Given the description of an element on the screen output the (x, y) to click on. 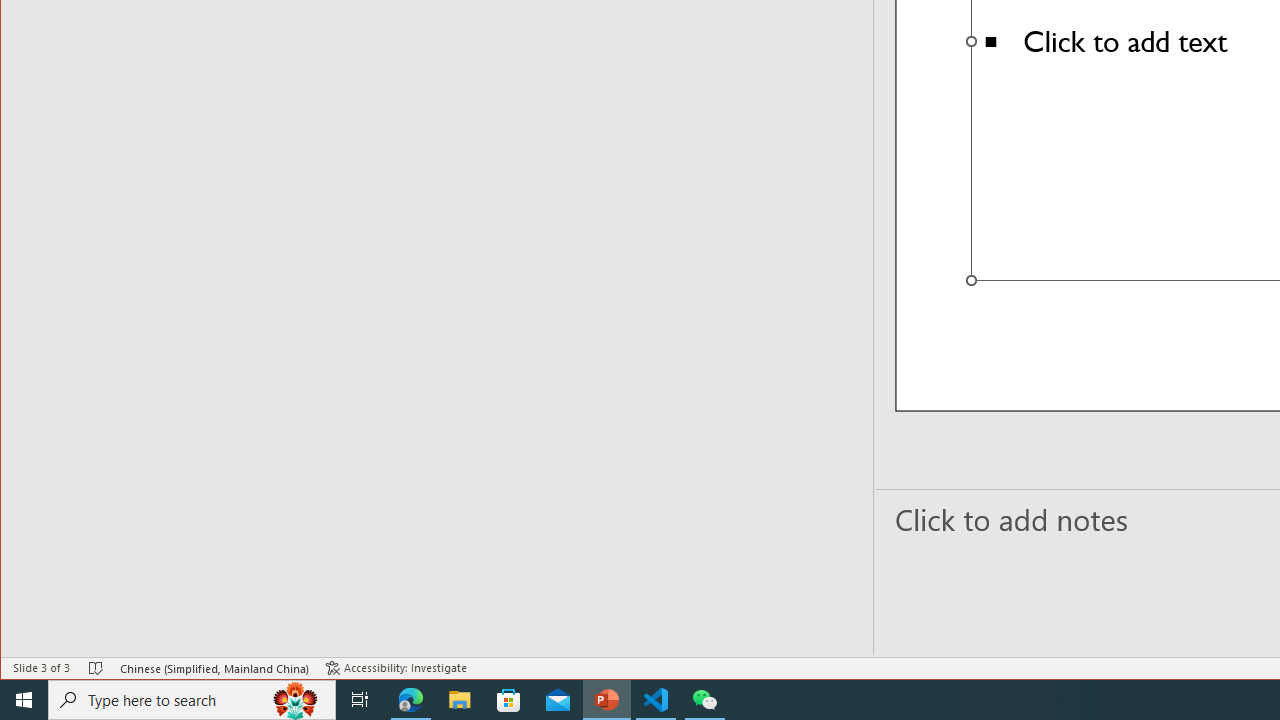
WeChat - 1 running window (704, 699)
